Given the description of an element on the screen output the (x, y) to click on. 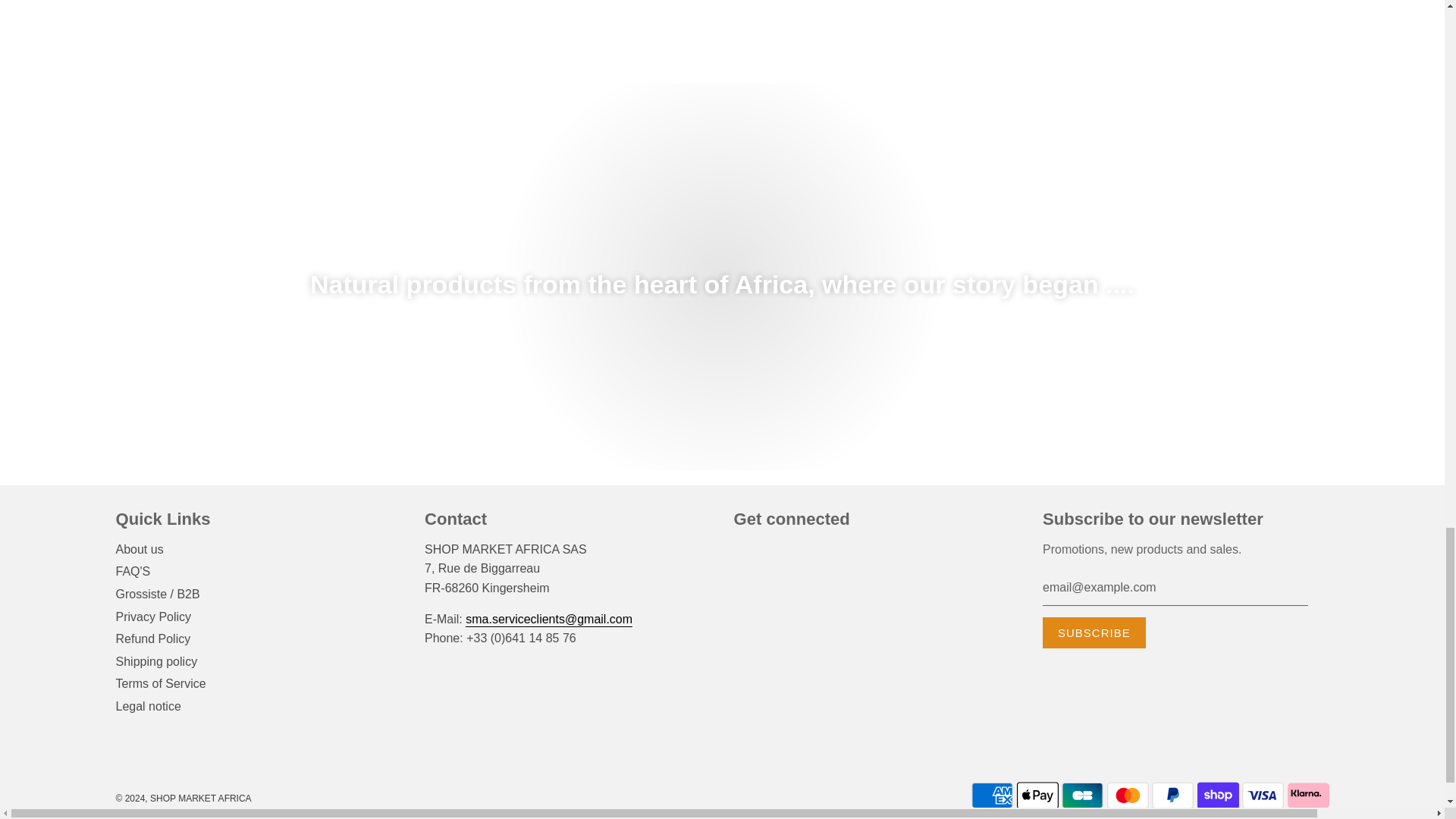
Apple Pay (1037, 795)
Cartes Bancaires (1082, 795)
American Express (992, 795)
Mastercard (1127, 795)
Visa (1262, 795)
Subscribe (1093, 632)
PayPal (1172, 795)
Shop Pay (1217, 795)
